Given the description of an element on the screen output the (x, y) to click on. 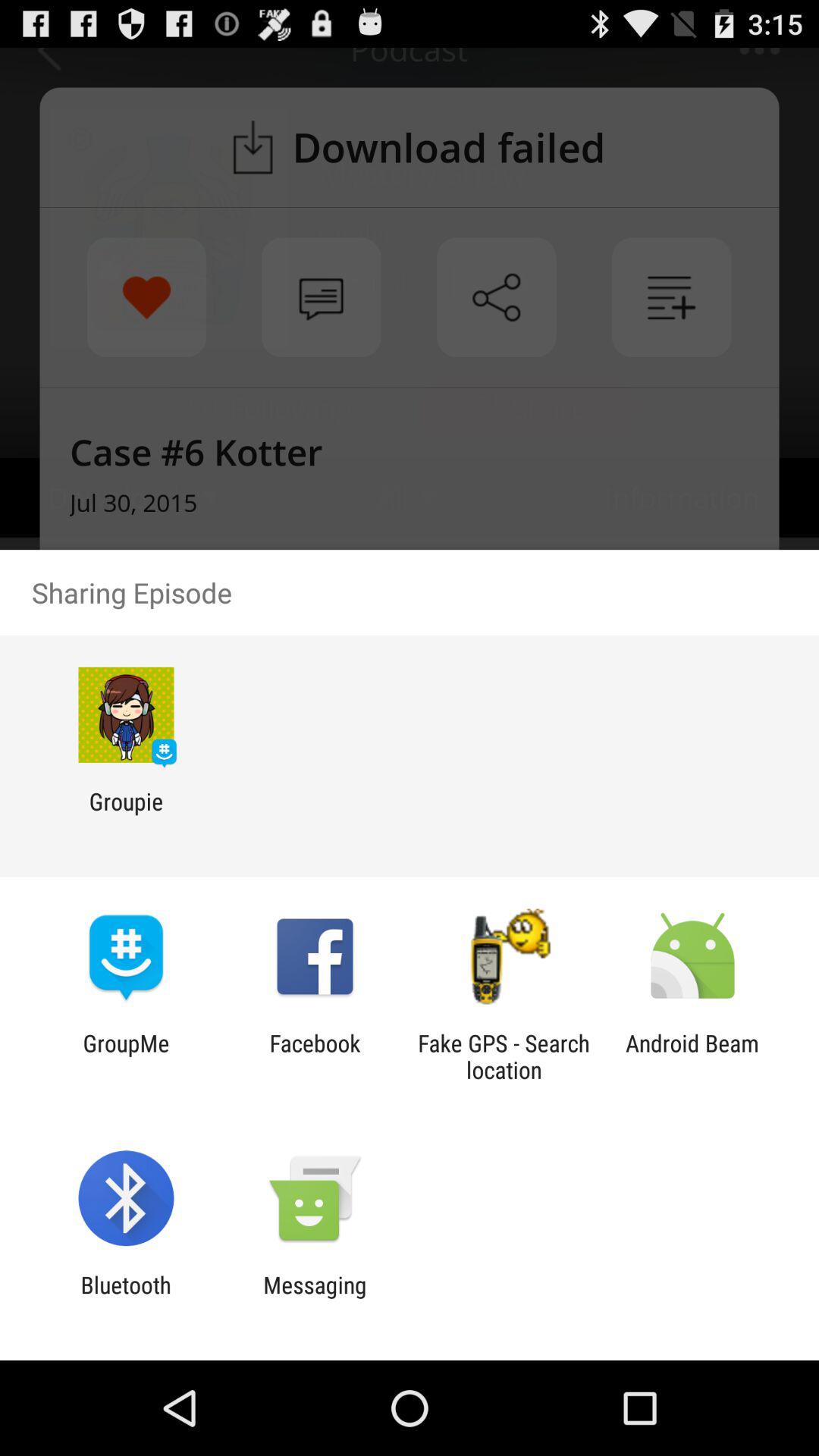
tap item next to groupme app (314, 1056)
